Given the description of an element on the screen output the (x, y) to click on. 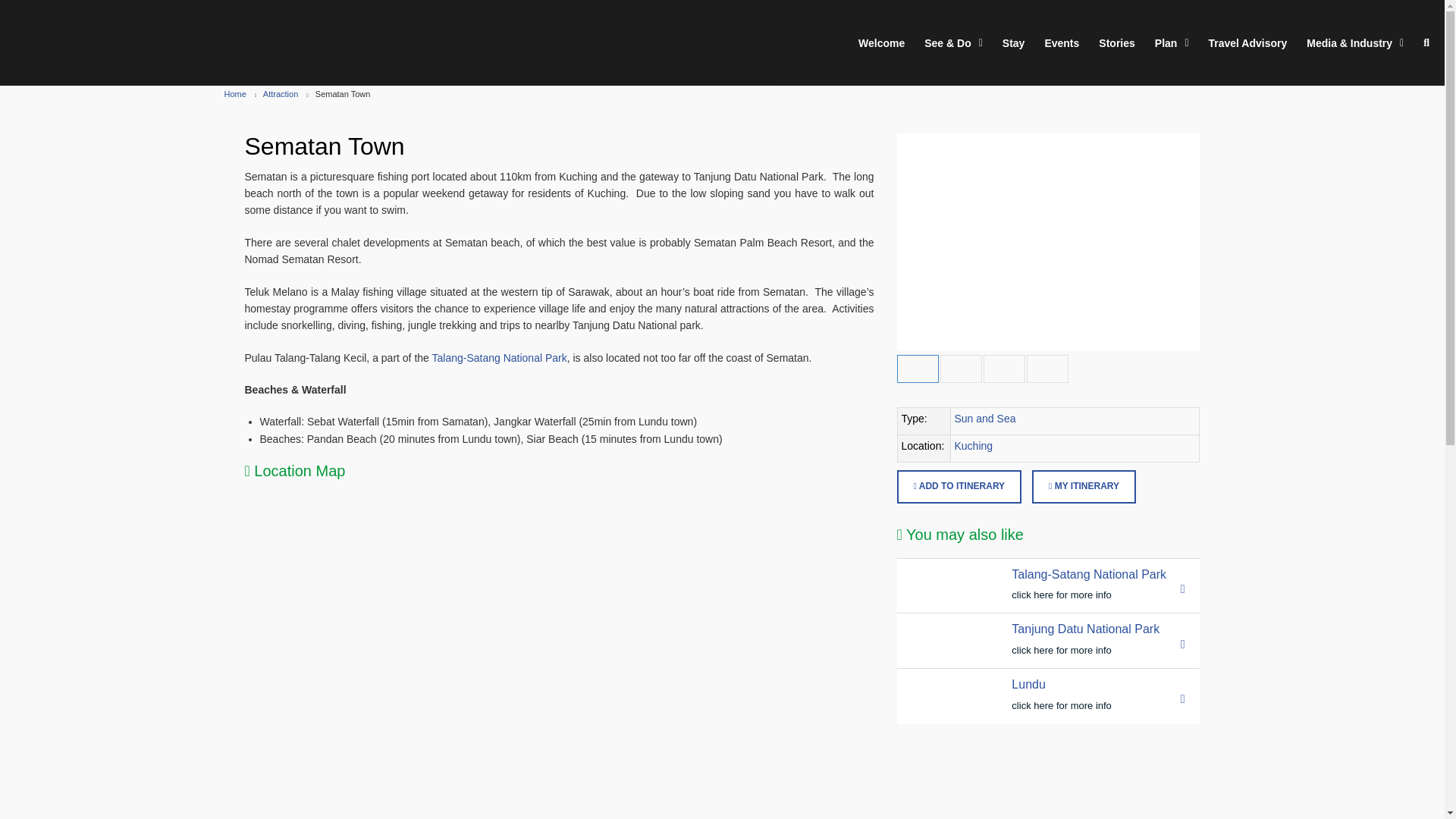
Events (1060, 43)
Plan (1171, 43)
Welcome (912, 43)
Stay (1014, 43)
Stories (1116, 43)
Travel Advisory (1247, 43)
